Given the description of an element on the screen output the (x, y) to click on. 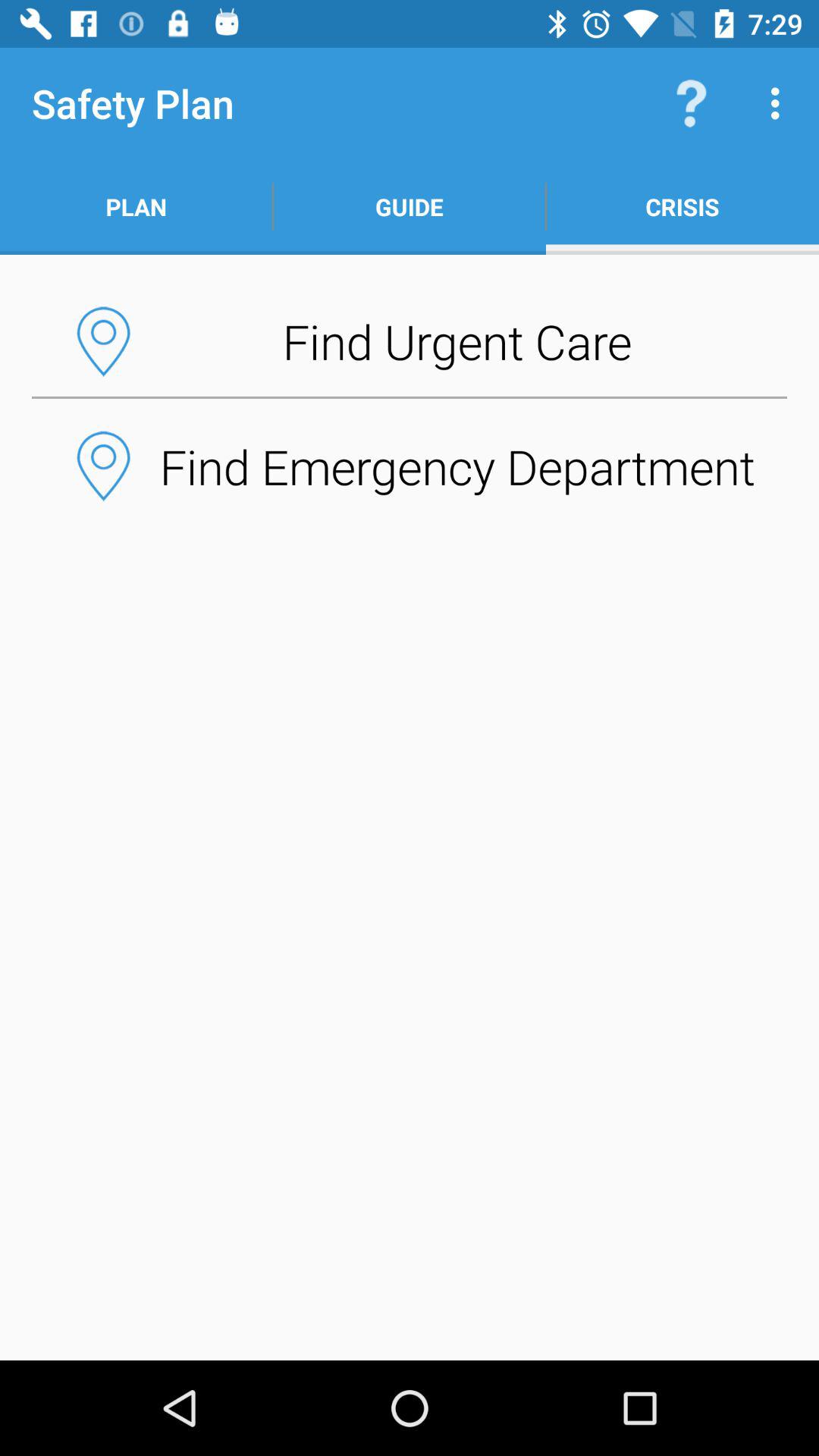
flip to find emergency department (409, 466)
